Given the description of an element on the screen output the (x, y) to click on. 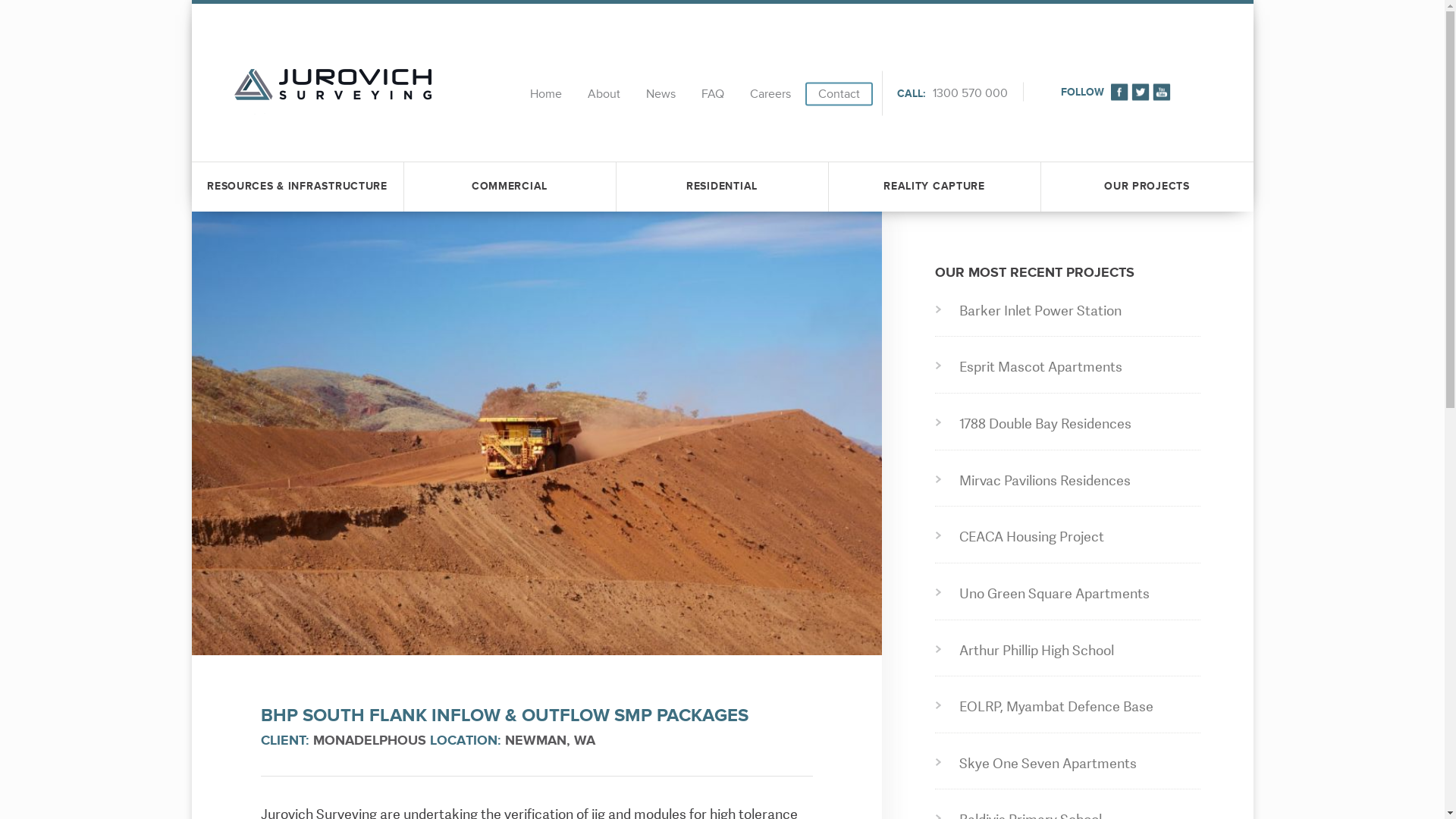
News Element type: text (660, 93)
EOLRP, Myambat Defence Base Element type: text (1071, 706)
CALL: 1300 570 000 Element type: text (951, 93)
Jurovich Surveying Element type: hover (331, 94)
Jurovich Surveying Youtube Page Element type: hover (1161, 91)
CEACA Housing Project Element type: text (1071, 536)
1788 Double Bay Residences Element type: text (1071, 423)
About Element type: text (603, 93)
Careers Element type: text (770, 93)
COMMERCIAL Element type: text (509, 186)
Skye One Seven Apartments Element type: text (1071, 763)
Arthur Phillip High School Element type: text (1071, 650)
Barker Inlet Power Station Element type: text (1071, 310)
OUR PROJECTS Element type: text (1146, 186)
Home Element type: text (545, 93)
FAQ Element type: text (712, 93)
REALITY CAPTURE Element type: text (933, 186)
Jurovich Surveying Facebook Page Element type: hover (1119, 91)
Uno Green Square Apartments Element type: text (1071, 593)
Esprit Mascot Apartments Element type: text (1071, 367)
Mirvac Pavilions Residences Element type: text (1071, 480)
RESIDENTIAL Element type: text (721, 186)
Jurovich Surveying Twitter Page Element type: hover (1140, 91)
RESOURCES & INFRASTRUCTURE Element type: text (296, 186)
Contact Element type: text (838, 93)
